Given the description of an element on the screen output the (x, y) to click on. 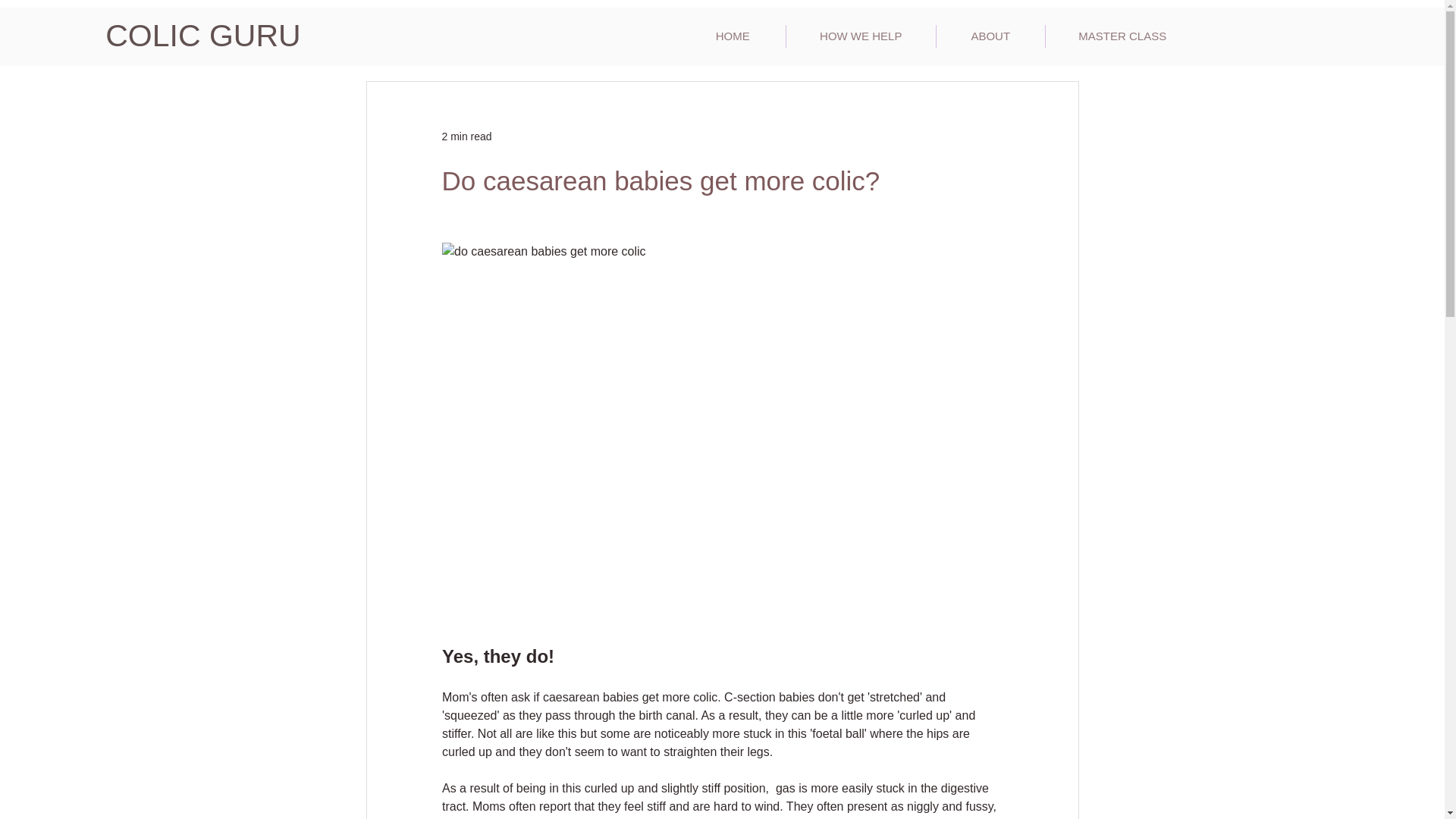
2 min read (466, 136)
HOW WE HELP (861, 36)
HOME (732, 36)
ABOUT (990, 36)
MASTER CLASS (1122, 36)
